Given the description of an element on the screen output the (x, y) to click on. 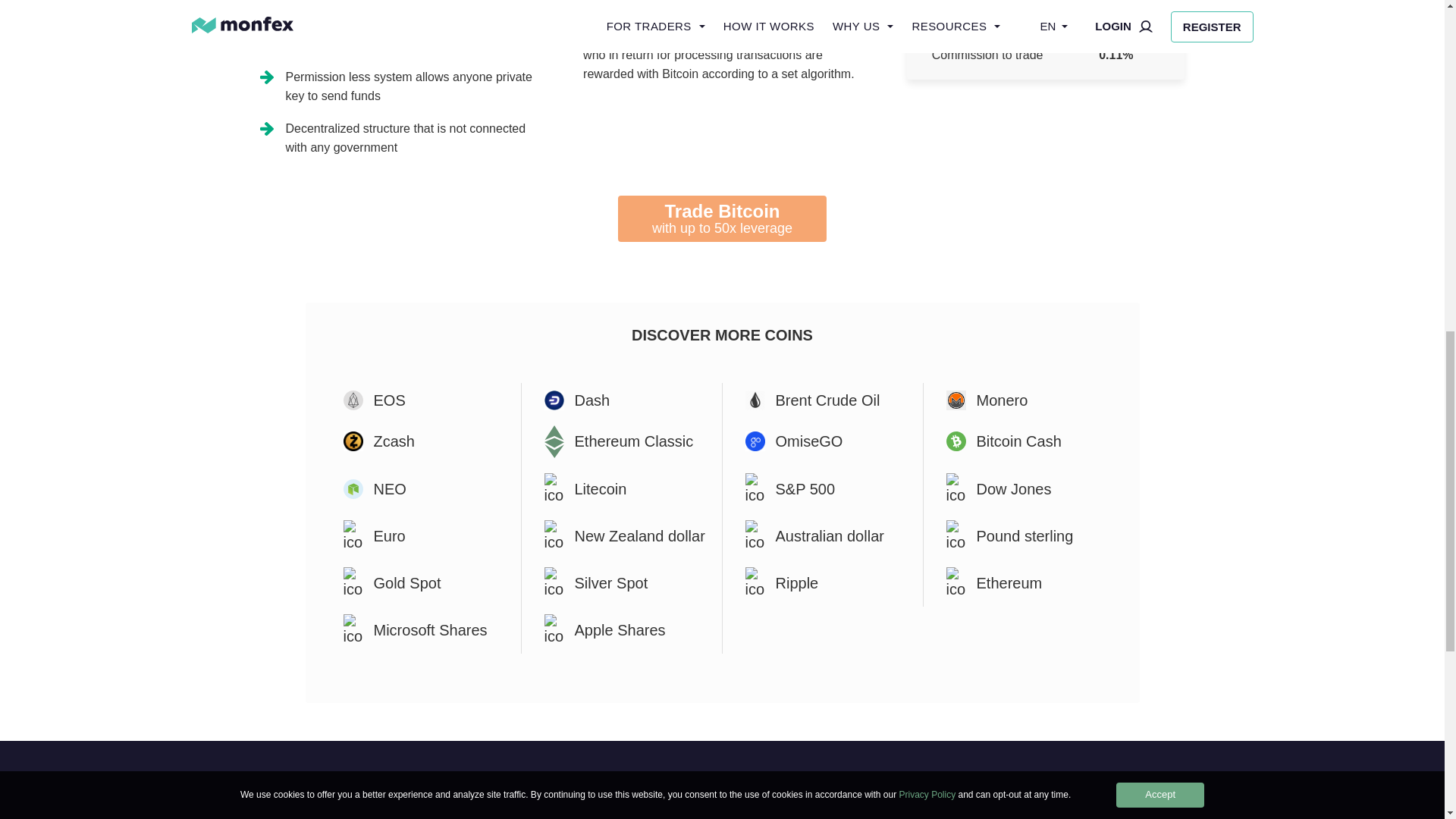
Dow Jones (722, 218)
Zcash (1023, 489)
Australian dollar (420, 441)
NEO (822, 535)
Brent Crude Oil (420, 489)
Bitcoin Cash (822, 400)
Dash (1023, 441)
EOS (621, 400)
Euro (420, 400)
